Given the description of an element on the screen output the (x, y) to click on. 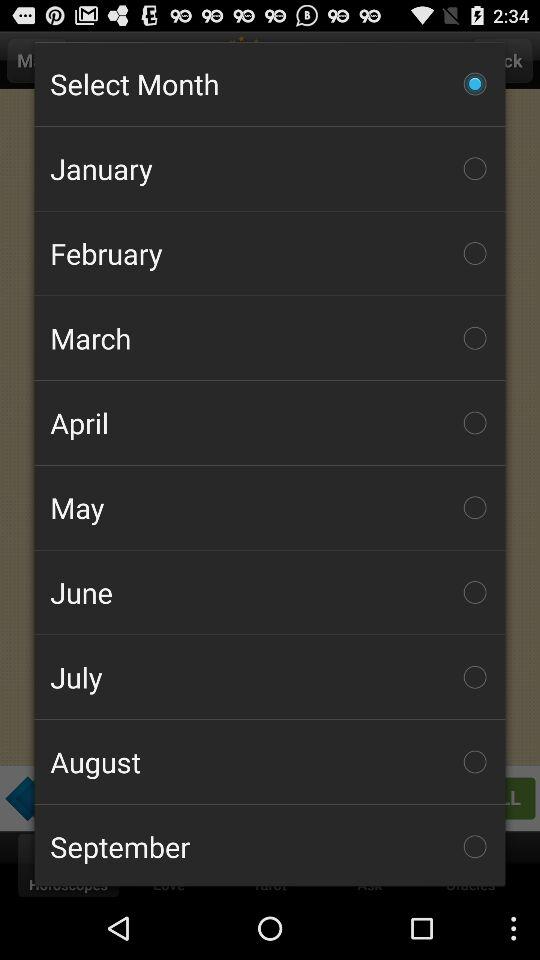
turn off the checkbox above january item (269, 83)
